Given the description of an element on the screen output the (x, y) to click on. 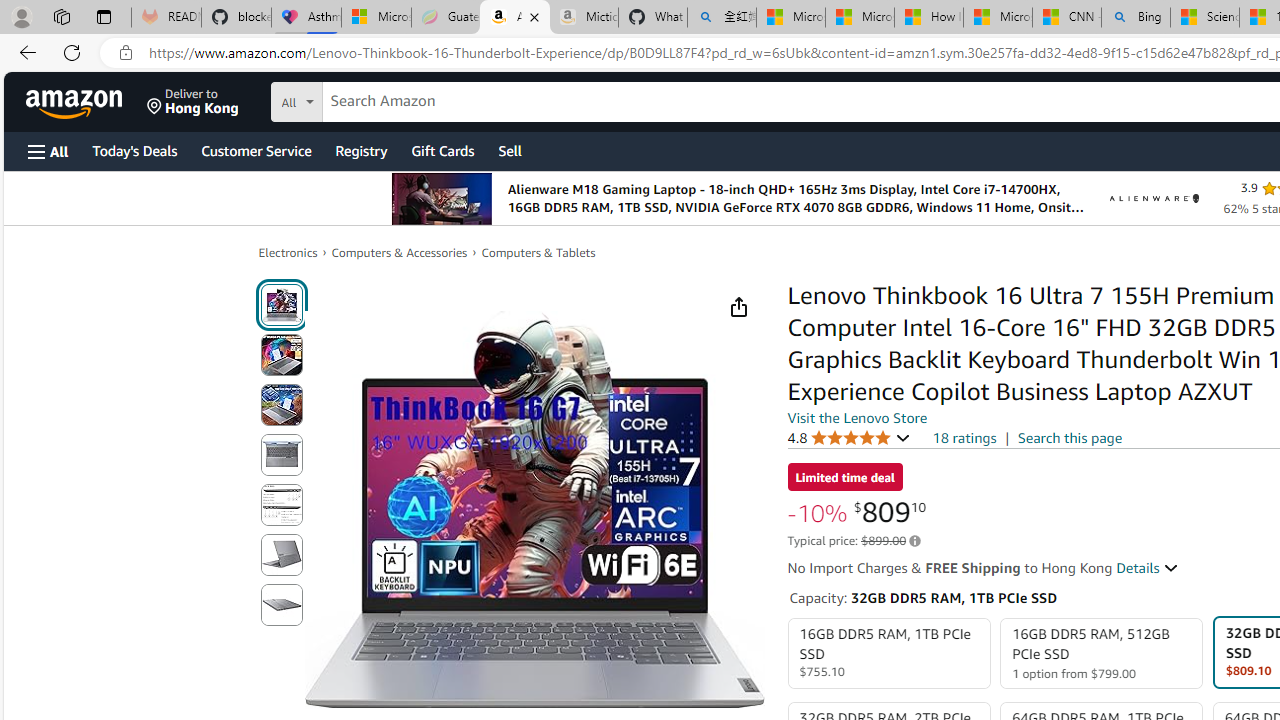
Electronics (287, 252)
Electronics (287, 251)
4.8 4.8 out of 5 stars (849, 437)
Deliver to Hong Kong (193, 101)
16GB DDR5 RAM, 512GB PCIe SSD 1 option from $799.00 (1101, 653)
Computers & Tablets (538, 251)
Computers & Accessories (399, 251)
